Given the description of an element on the screen output the (x, y) to click on. 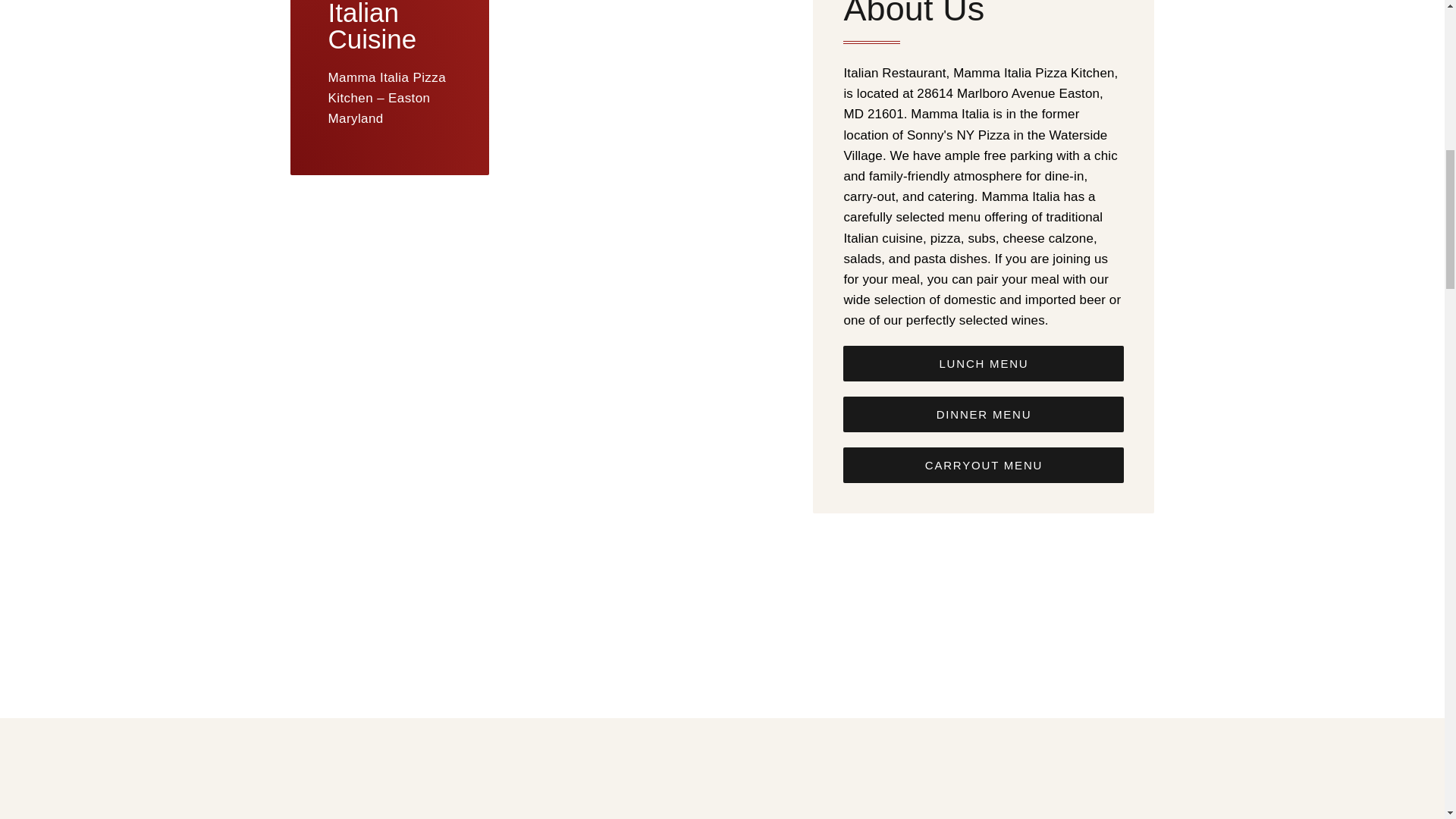
DINNER MENU (983, 414)
CARRYOUT MENU (983, 465)
LUNCH MENU (983, 363)
